Given the description of an element on the screen output the (x, y) to click on. 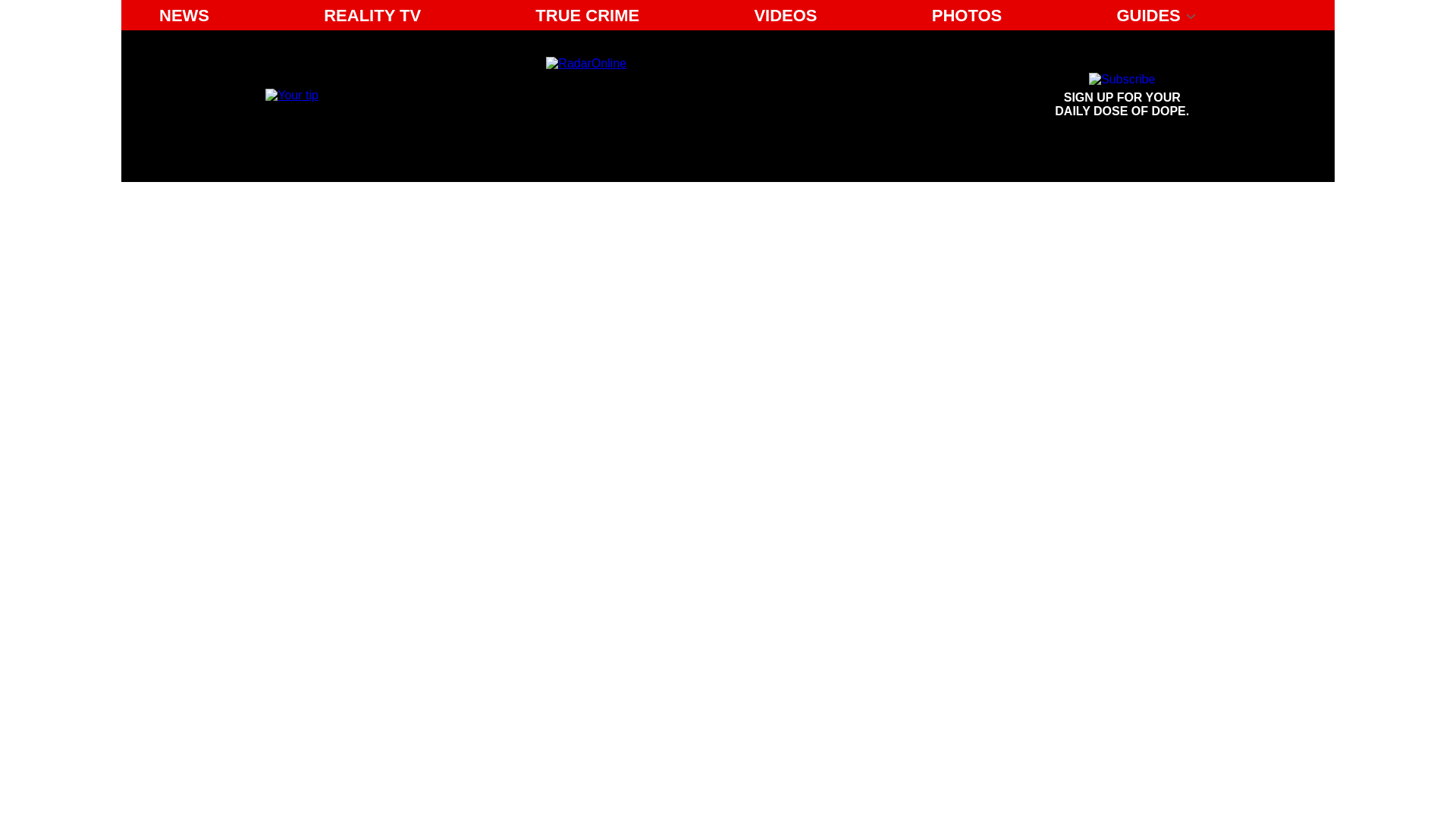
NEWS (183, 15)
Email us your tip (291, 94)
Radar Online (685, 95)
VIDEOS (1122, 94)
TRUE CRIME (784, 15)
Sign up for your daily dose of dope. (586, 15)
REALITY TV (1122, 94)
PHOTOS (371, 15)
